Given the description of an element on the screen output the (x, y) to click on. 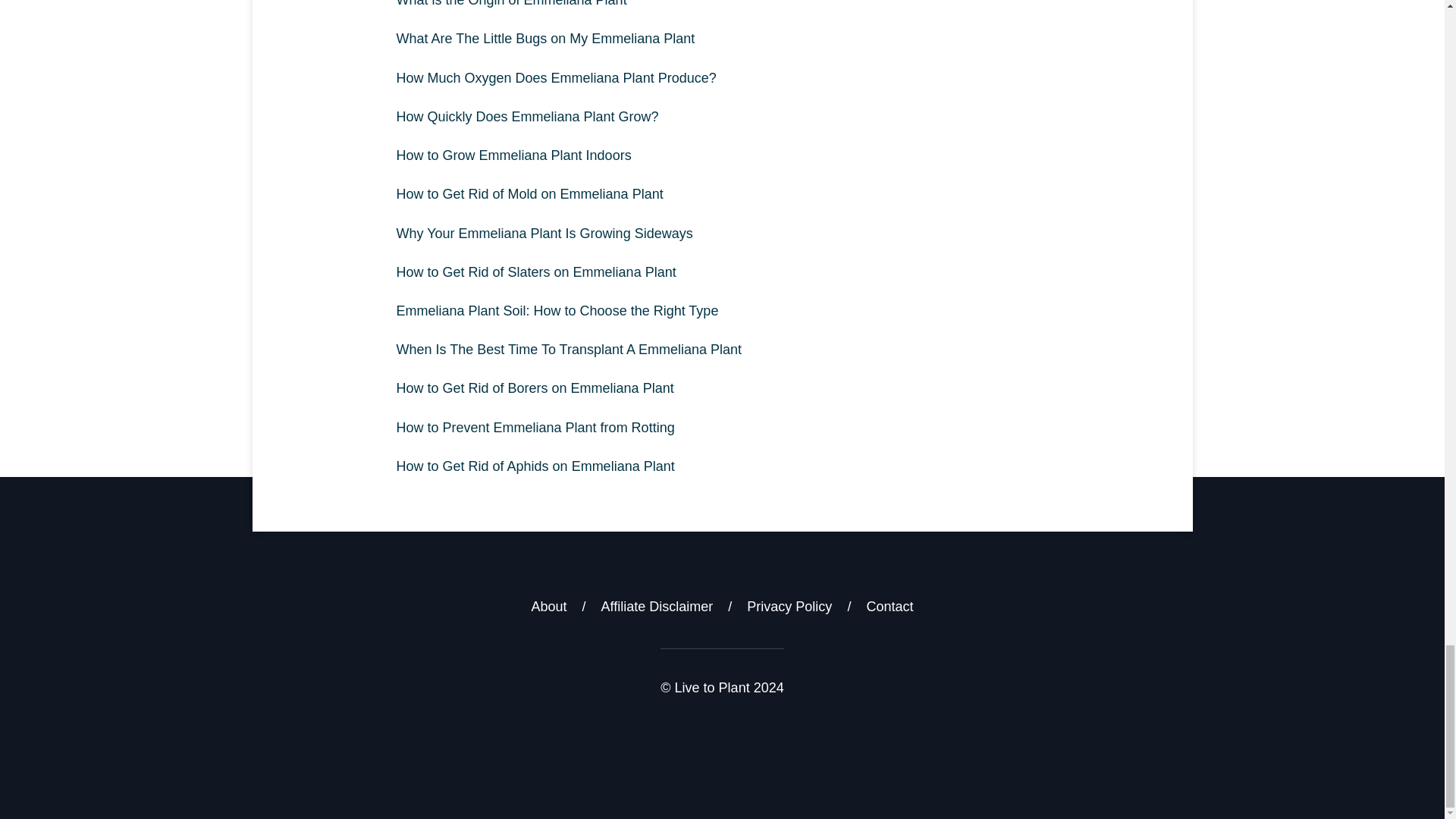
How to Grow Emmeliana Plant Indoors (722, 155)
How to Get Rid of Borers on Emmeliana Plant (722, 388)
When Is The Best Time To Transplant A Emmeliana Plant (722, 349)
Emmeliana Plant Soil: How to Choose the Right Type (722, 310)
How Quickly Does Emmeliana Plant Grow? (722, 116)
What Are The Little Bugs on My Emmeliana Plant (722, 38)
How to Get Rid of Mold on Emmeliana Plant (722, 194)
How to Get Rid of Slaters on Emmeliana Plant (722, 272)
What is the Origin of Emmeliana Plant (722, 9)
Why Your Emmeliana Plant Is Growing Sideways (722, 233)
